Given the description of an element on the screen output the (x, y) to click on. 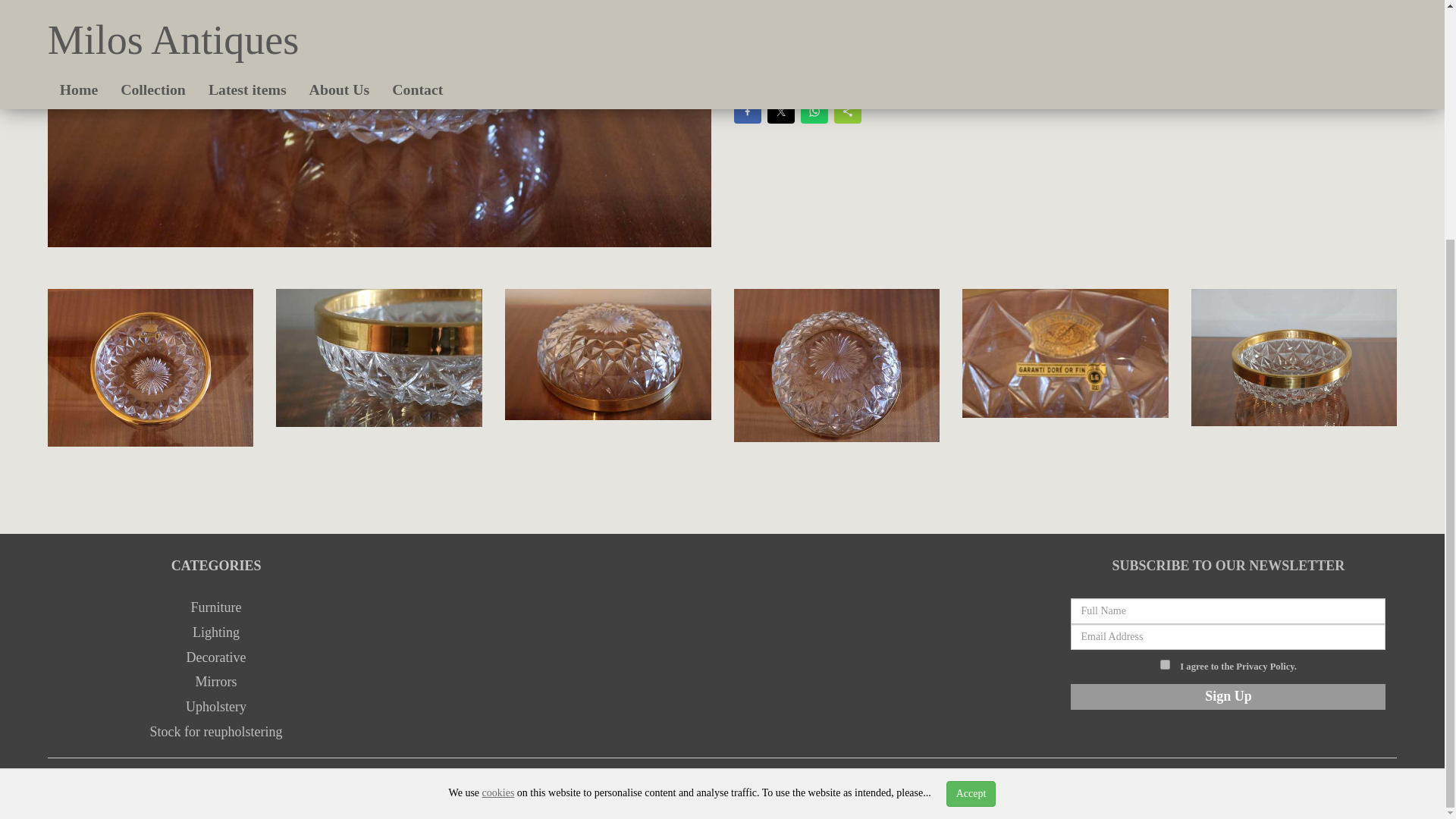
Sign Up (1228, 696)
Antiques website design (297, 785)
ph9 web design (427, 785)
on (1165, 664)
Privacy (1043, 785)
cookies (498, 463)
Terms (1091, 785)
Accept (970, 464)
Enquire (757, 76)
Privacy Policy (1265, 665)
Stock for reupholstering (215, 731)
Print (810, 76)
Lighting (216, 631)
Furniture (215, 607)
Upholstery (216, 706)
